Given the description of an element on the screen output the (x, y) to click on. 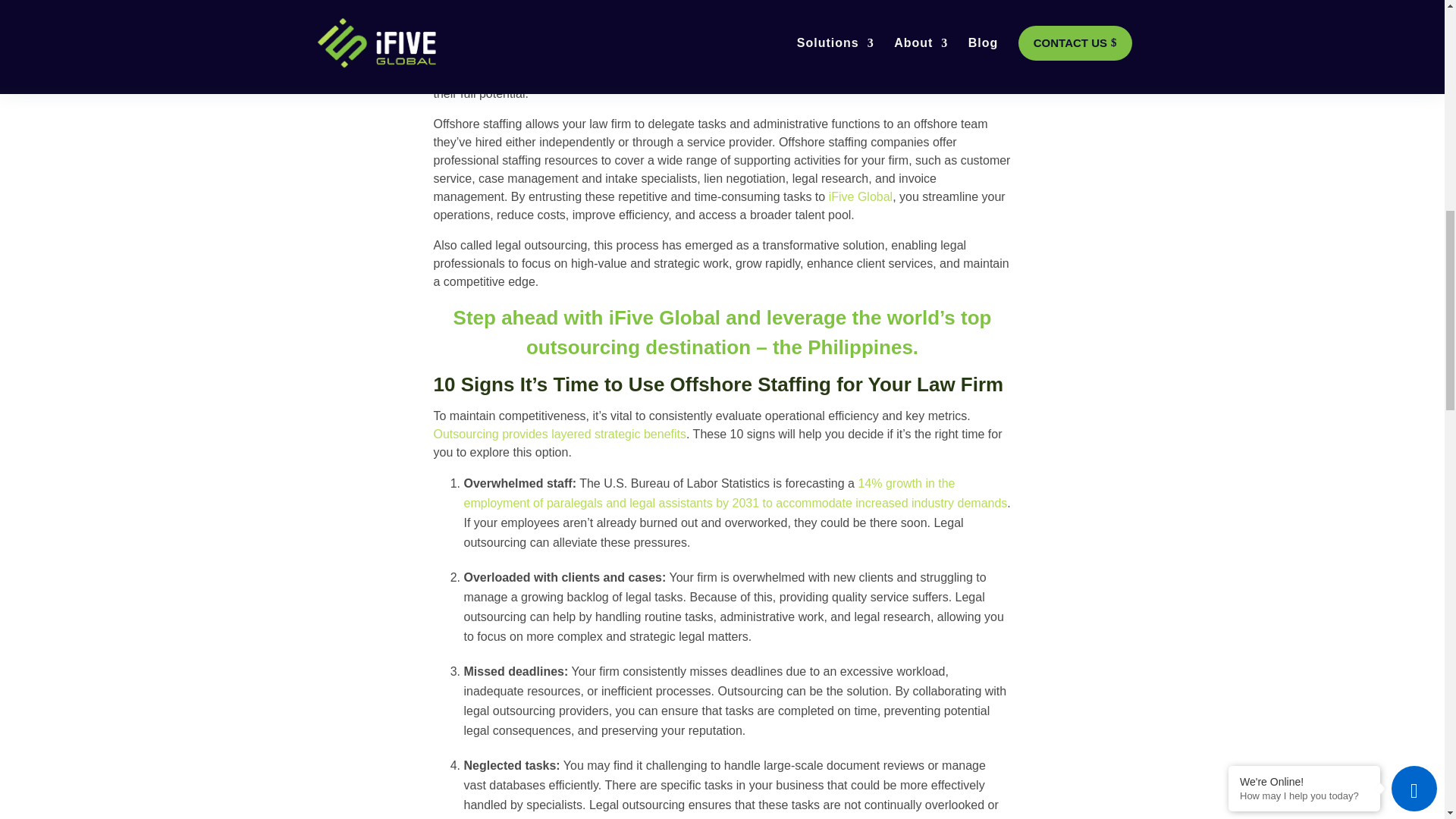
Outsourcing provides layered strategic benefits (560, 433)
offshore staffing (476, 74)
iFive Global (860, 196)
